Given the description of an element on the screen output the (x, y) to click on. 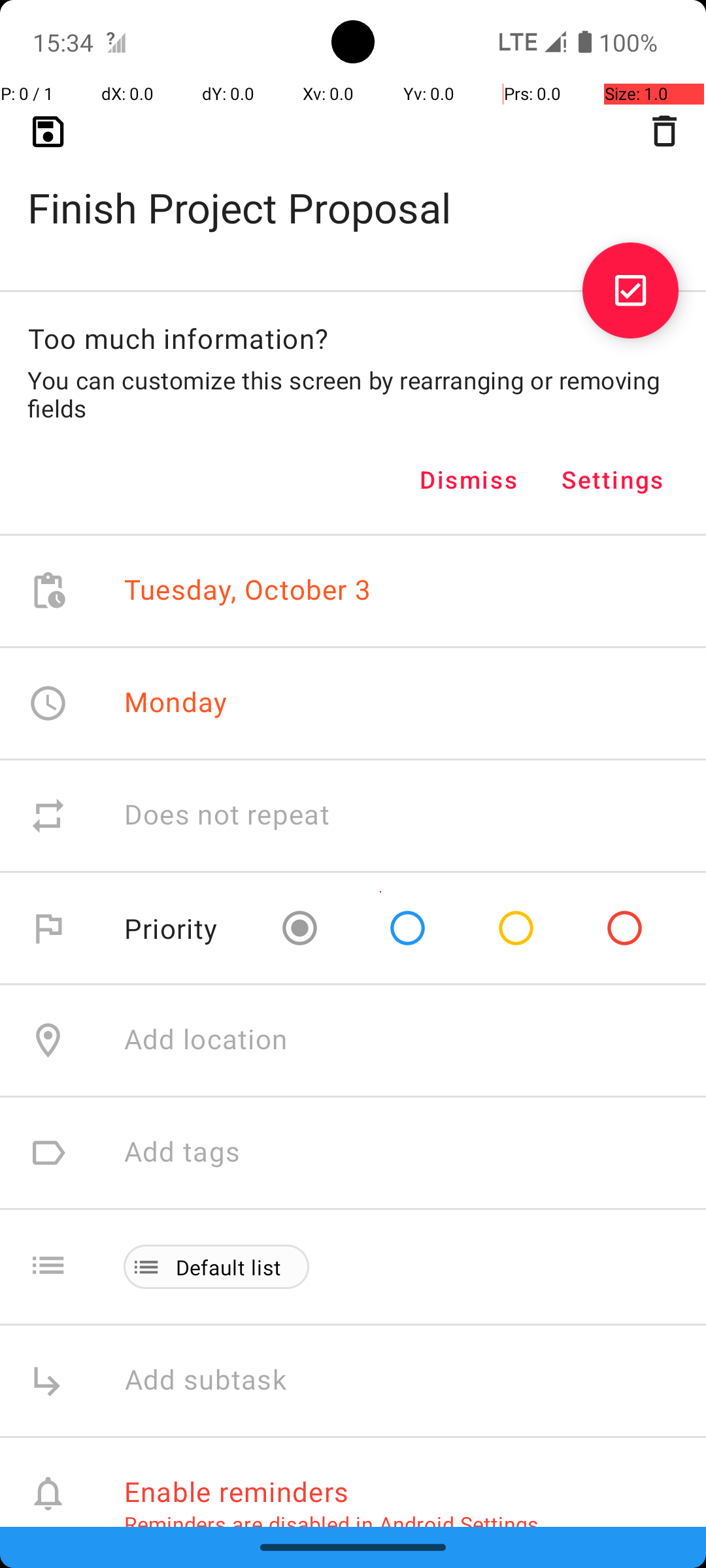
Tuesday, October 3 Element type: android.widget.TextView (247, 590)
